Given the description of an element on the screen output the (x, y) to click on. 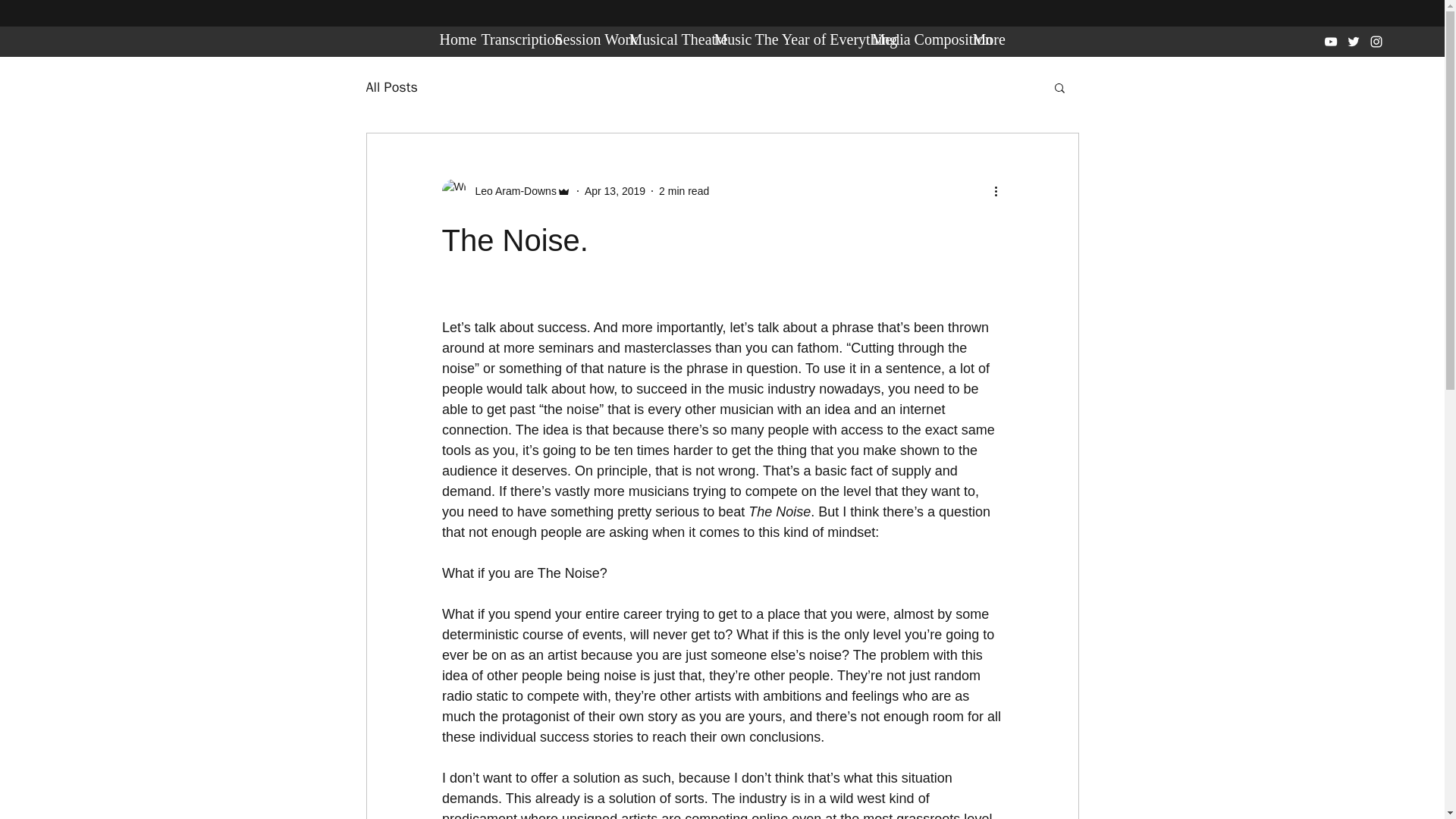
Musical Theatre (663, 39)
The Year of Everything (806, 39)
2 min read (684, 191)
All Posts (390, 86)
Transcription (510, 39)
Leo Aram-Downs (510, 191)
Media Composition (914, 39)
Home (453, 39)
Music (727, 39)
Session Work (584, 39)
Apr 13, 2019 (615, 191)
